Given the description of an element on the screen output the (x, y) to click on. 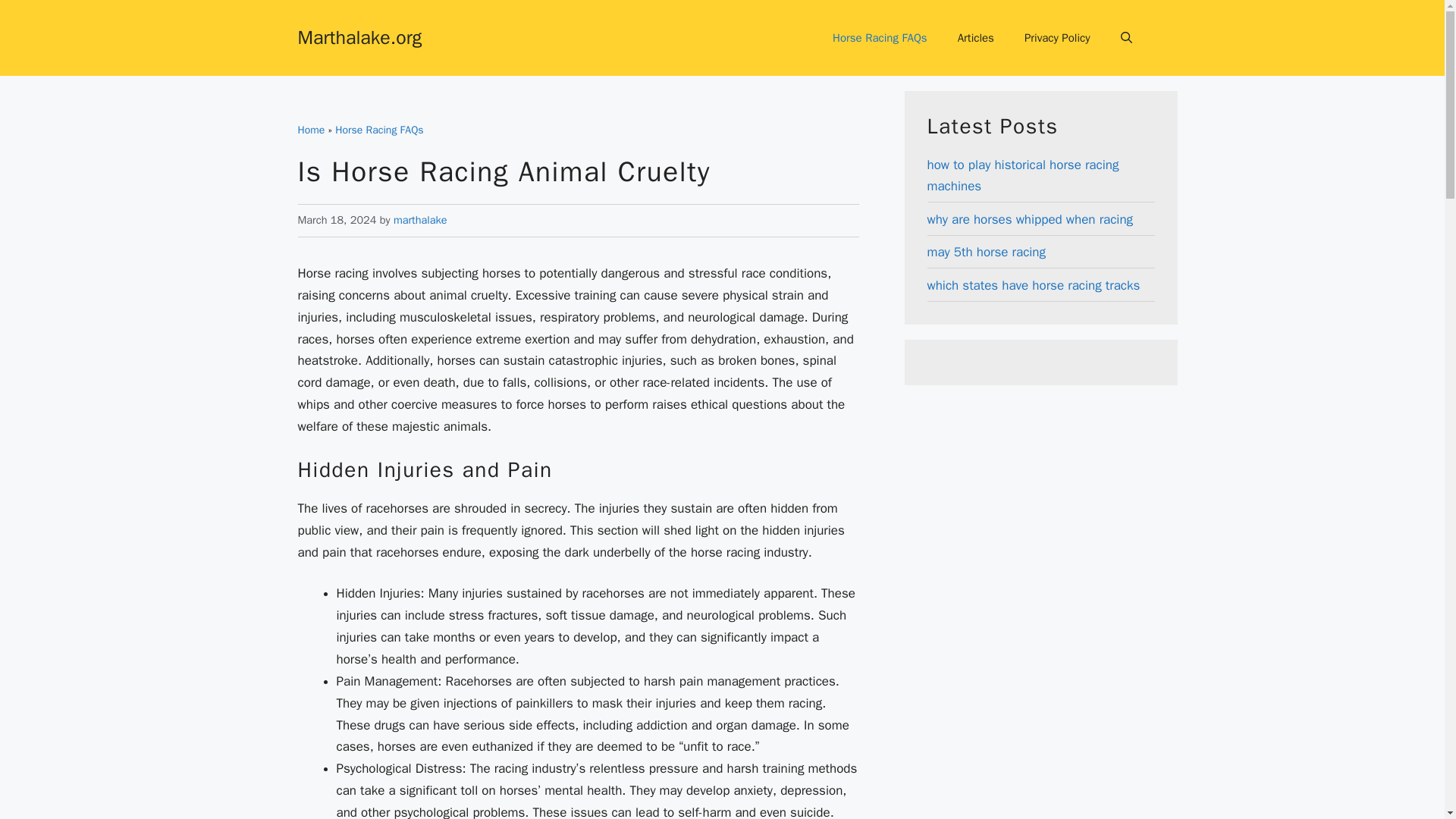
View all posts by marthalake (419, 219)
which states have horse racing tracks (1033, 285)
Horse Racing FAQs (378, 129)
why are horses whipped when racing (1029, 219)
how to play historical horse racing machines (1022, 175)
Marthalake.org (359, 37)
Horse Racing FAQs (879, 37)
may 5th horse racing (985, 252)
marthalake (419, 219)
Home (310, 129)
Privacy Policy (1057, 37)
Articles (975, 37)
